Given the description of an element on the screen output the (x, y) to click on. 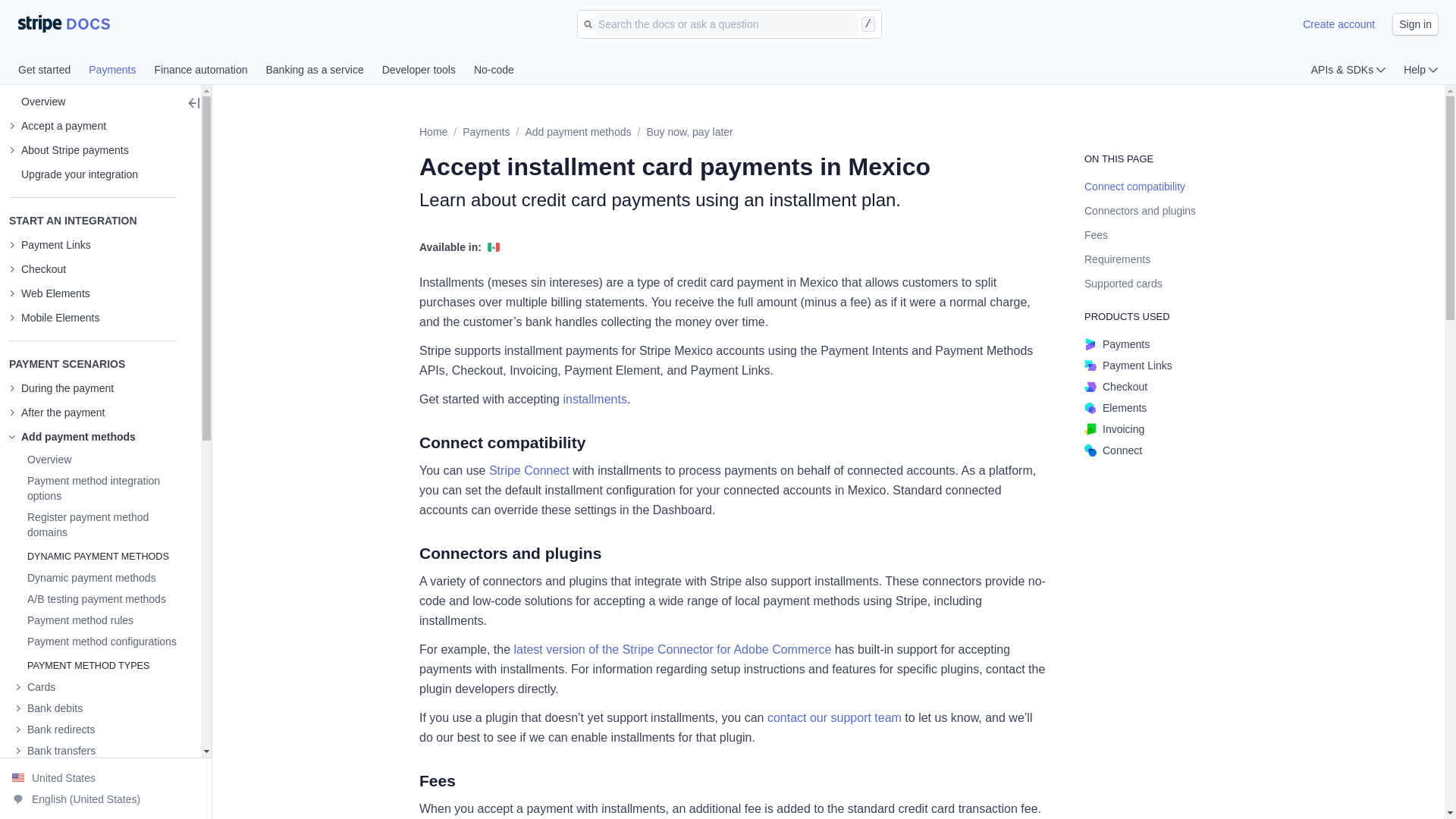
Overview (36, 101)
Mobile Elements (54, 317)
Improve your existing integration (73, 174)
Help (1420, 69)
Affirm payments with Payment Methods (41, 794)
Finance automation (210, 71)
Payment method integration options (95, 488)
Overview (42, 459)
Upgrade your integration (73, 174)
No-code (493, 71)
During the payment (60, 387)
Create account (1338, 24)
Developer tools (427, 71)
Sign in (1415, 24)
